Given the description of an element on the screen output the (x, y) to click on. 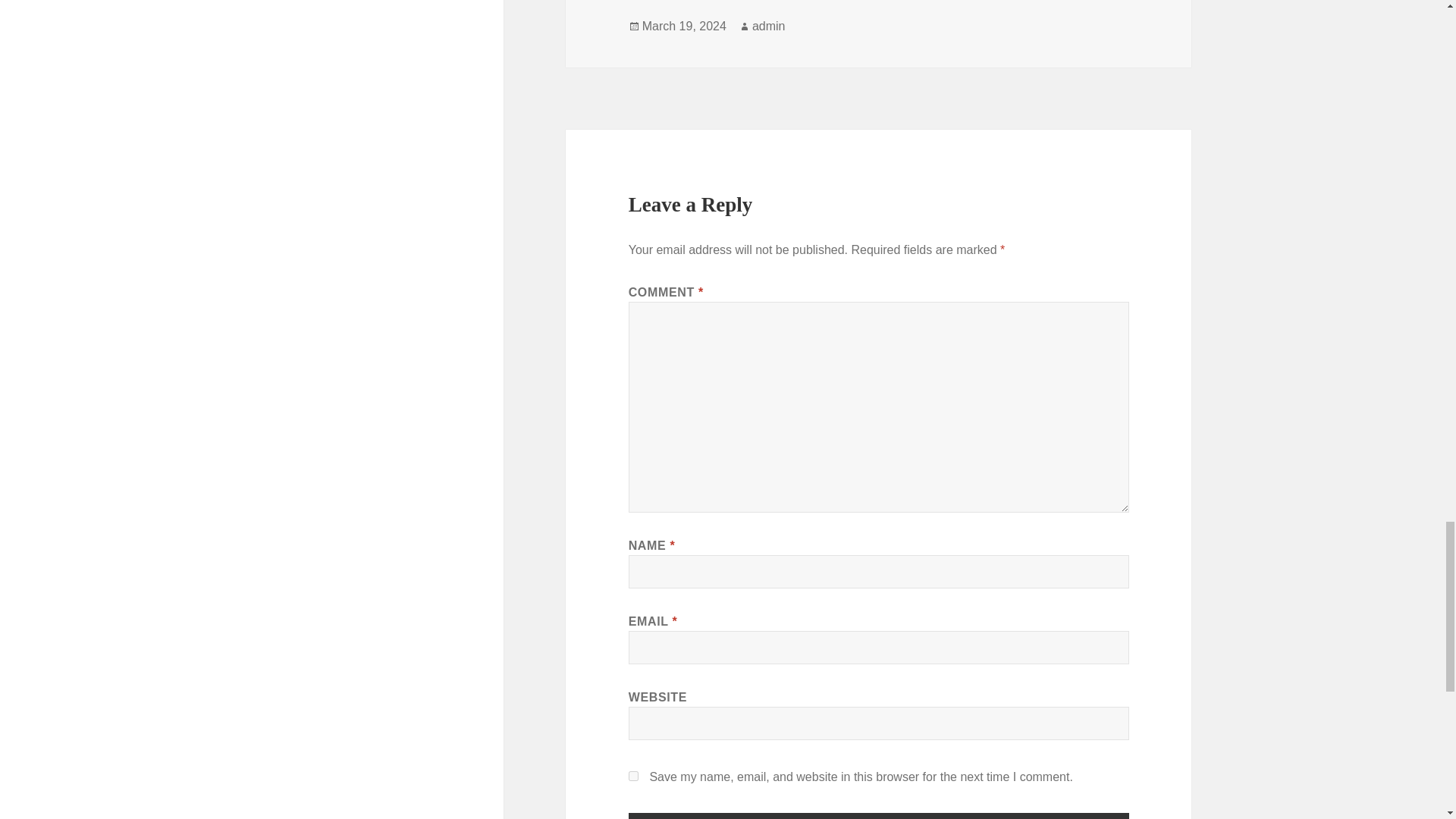
yes (633, 776)
Post Comment (878, 816)
March 19, 2024 (684, 26)
admin (769, 26)
Post Comment (878, 816)
